Given the description of an element on the screen output the (x, y) to click on. 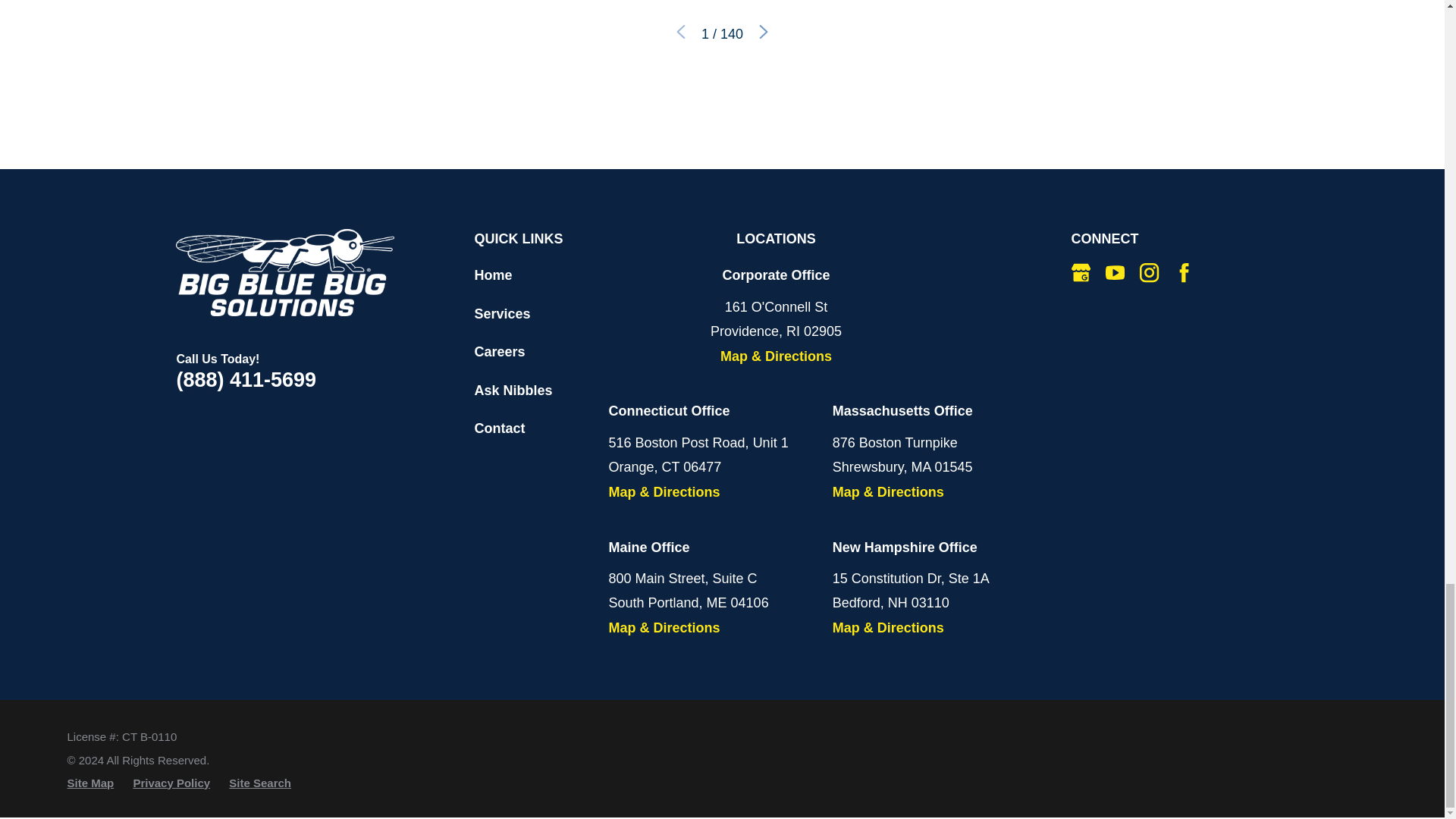
Google Business Profile (1080, 271)
Instagram (1149, 271)
Facebook (1183, 271)
YouTube (1114, 271)
Home (285, 272)
